Given the description of an element on the screen output the (x, y) to click on. 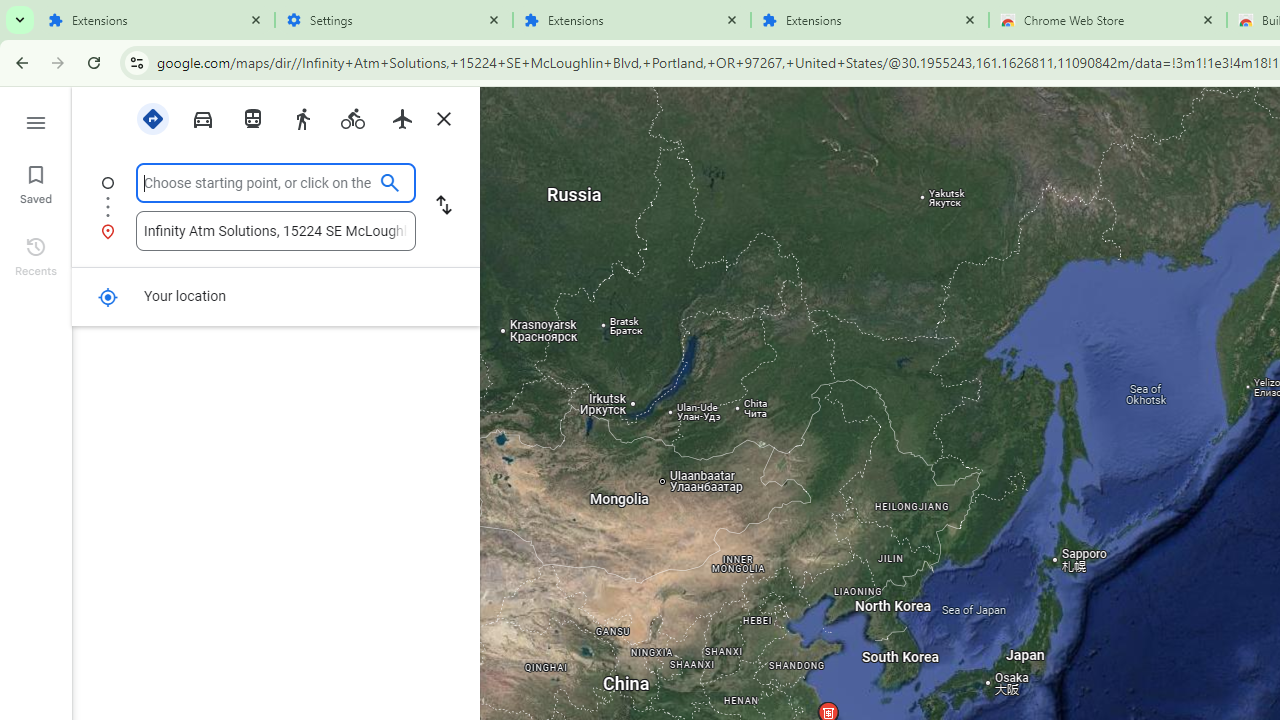
Transit (252, 119)
Menu (35, 120)
Forward (57, 62)
Walking (302, 119)
Recents (35, 254)
System (10, 11)
